Given the description of an element on the screen output the (x, y) to click on. 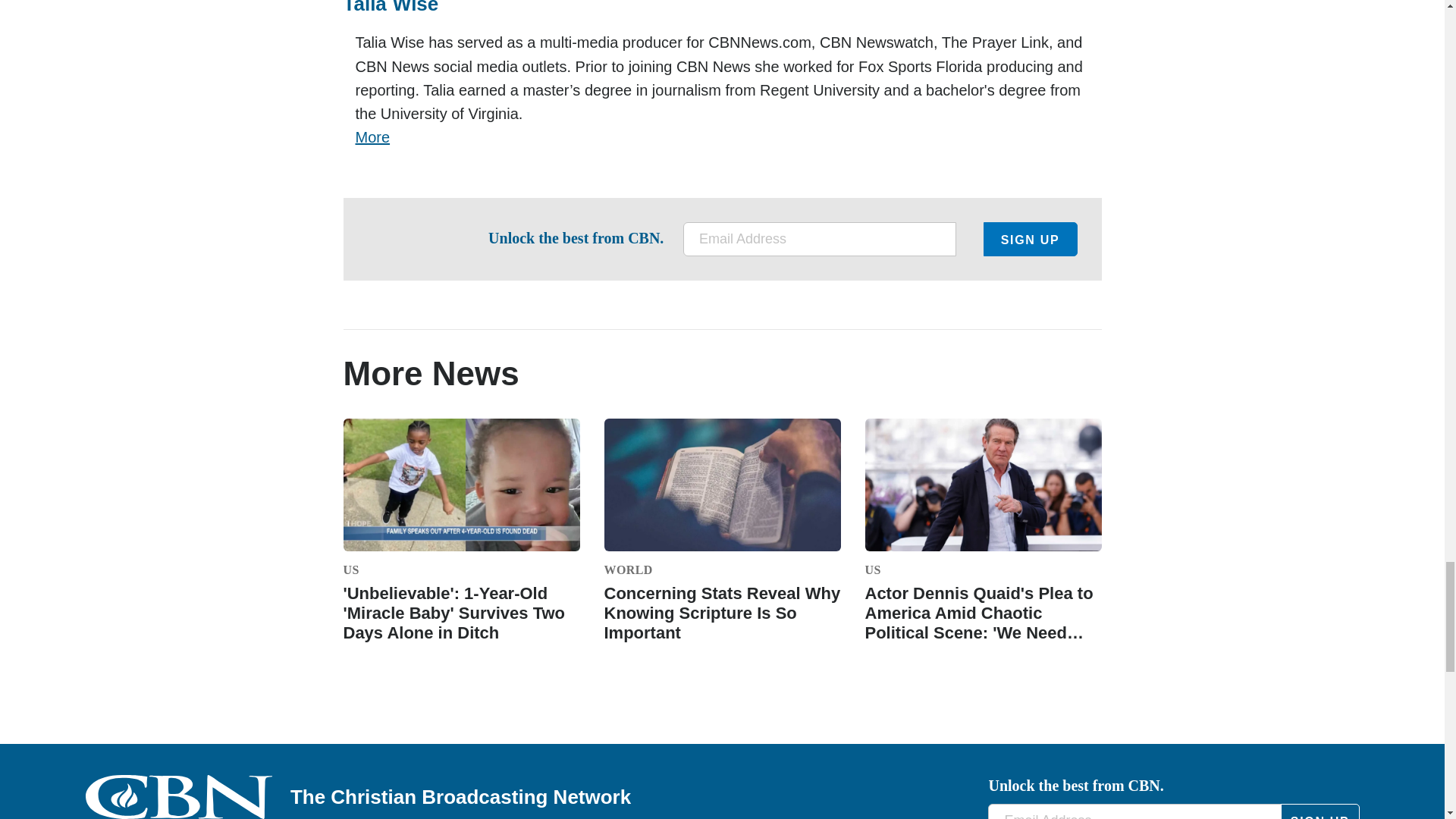
sign up (1029, 238)
dennisquaid.png (982, 485)
savedbaby.png (460, 485)
sign up (1320, 811)
